Given the description of an element on the screen output the (x, y) to click on. 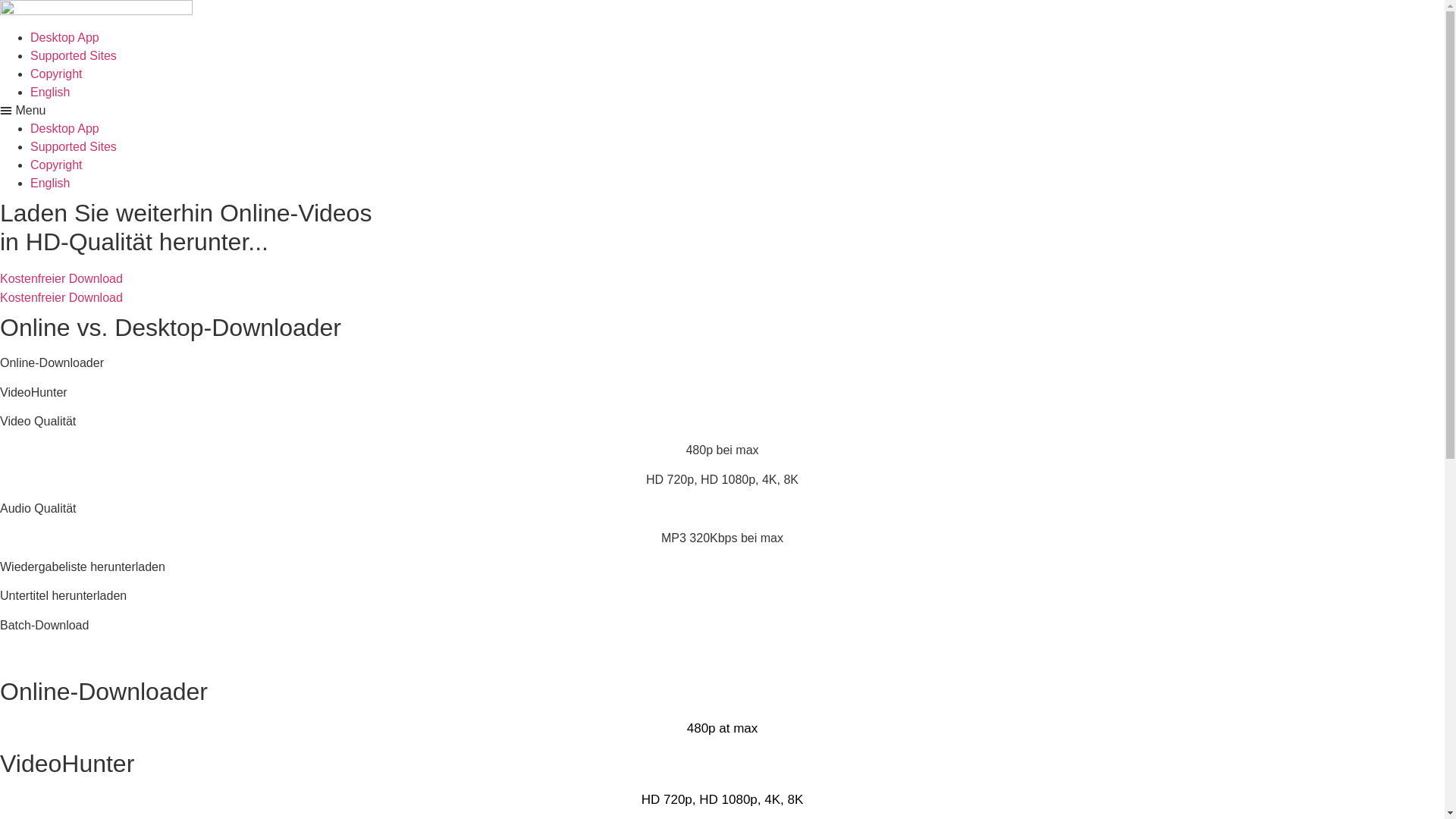
Supported Sites Element type: text (73, 146)
Desktop App Element type: text (64, 128)
Copyright Element type: text (55, 73)
Copyright Element type: text (55, 164)
Supported Sites Element type: text (73, 55)
Kostenfreier Download Element type: text (61, 297)
Desktop App Element type: text (64, 37)
English Element type: text (49, 91)
English Element type: text (49, 182)
Kostenfreier Download Element type: text (61, 278)
